Given the description of an element on the screen output the (x, y) to click on. 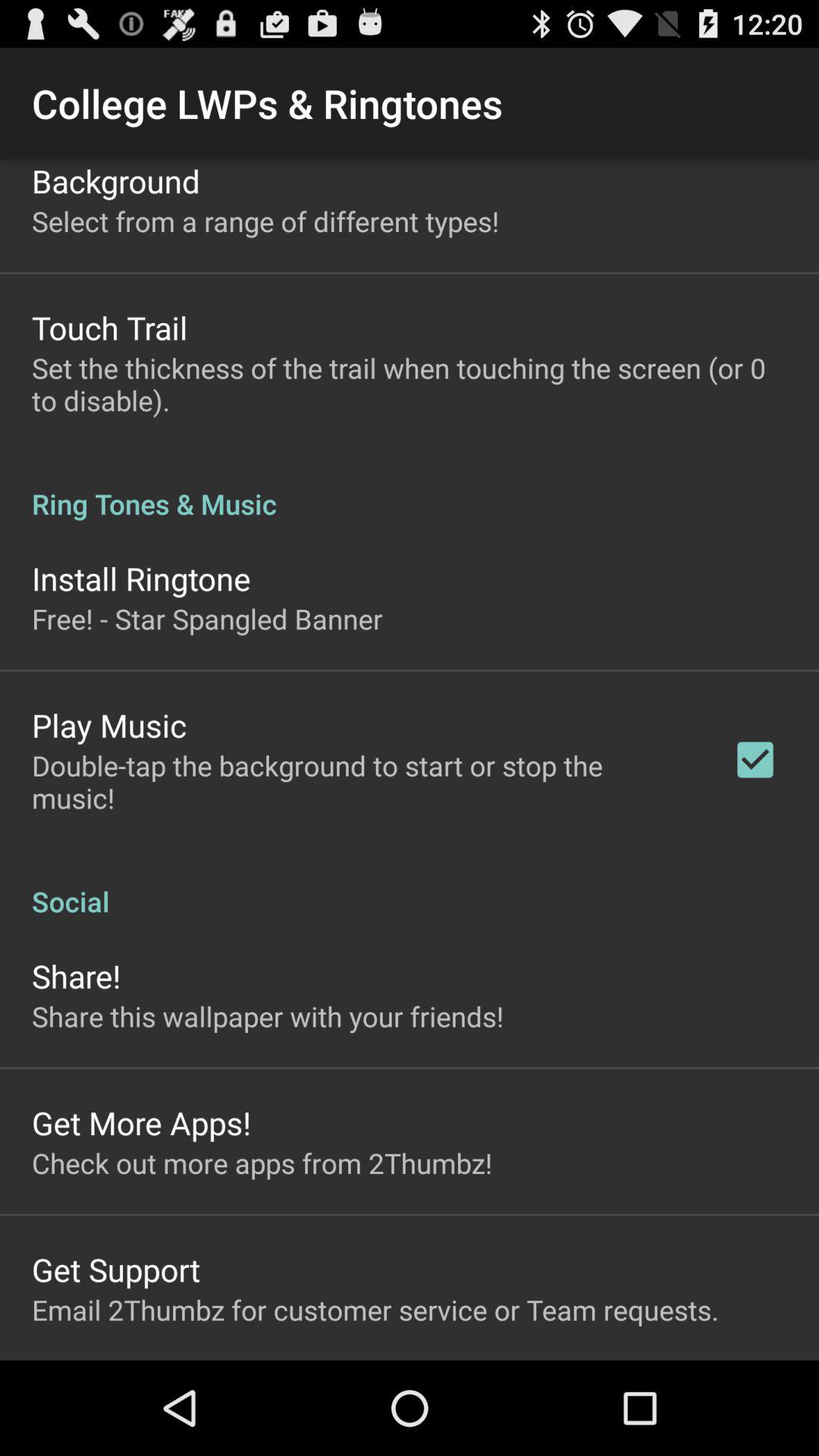
click checkbox on the right (755, 759)
